Given the description of an element on the screen output the (x, y) to click on. 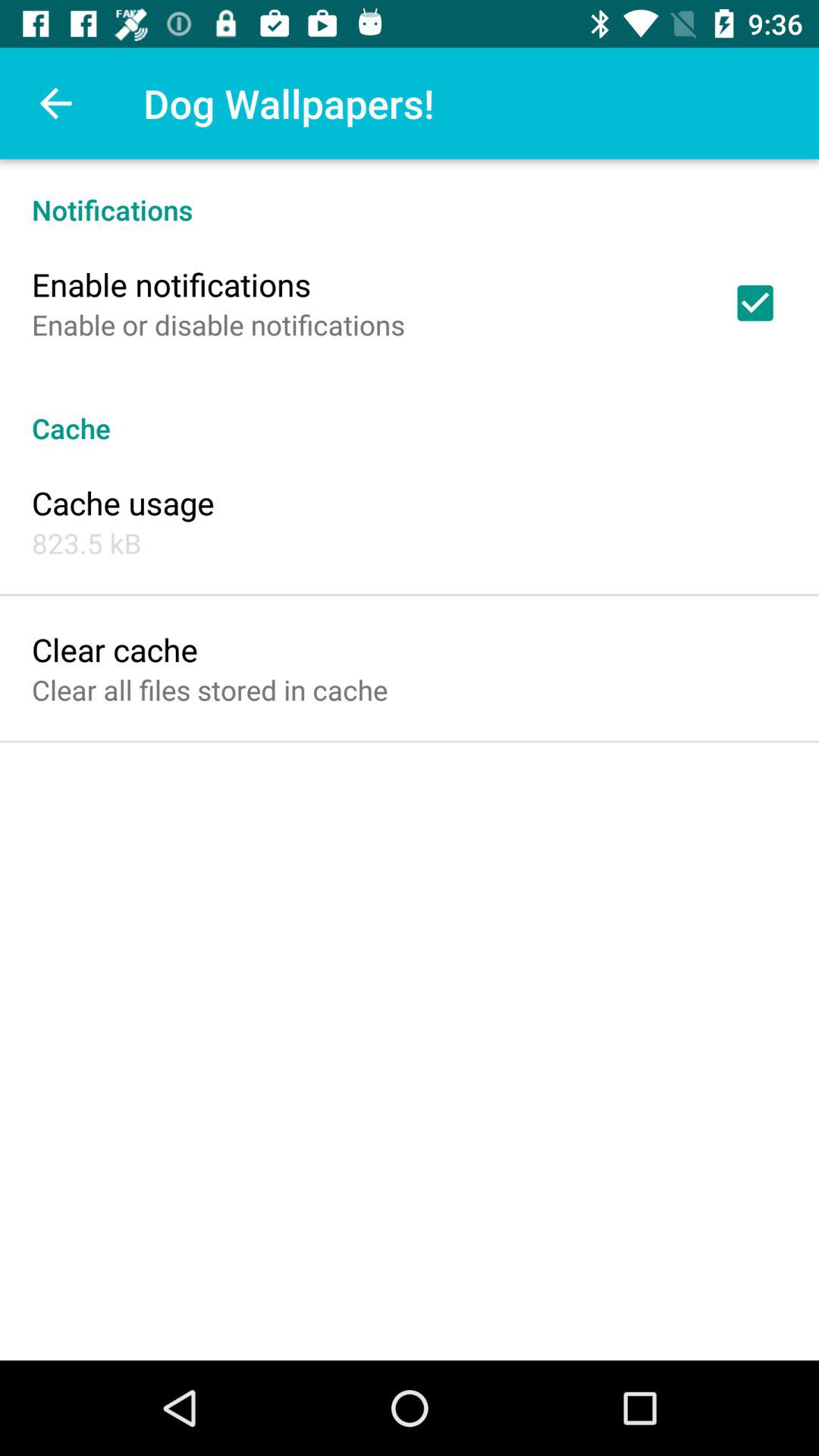
launch 823.5 kb (86, 542)
